Given the description of an element on the screen output the (x, y) to click on. 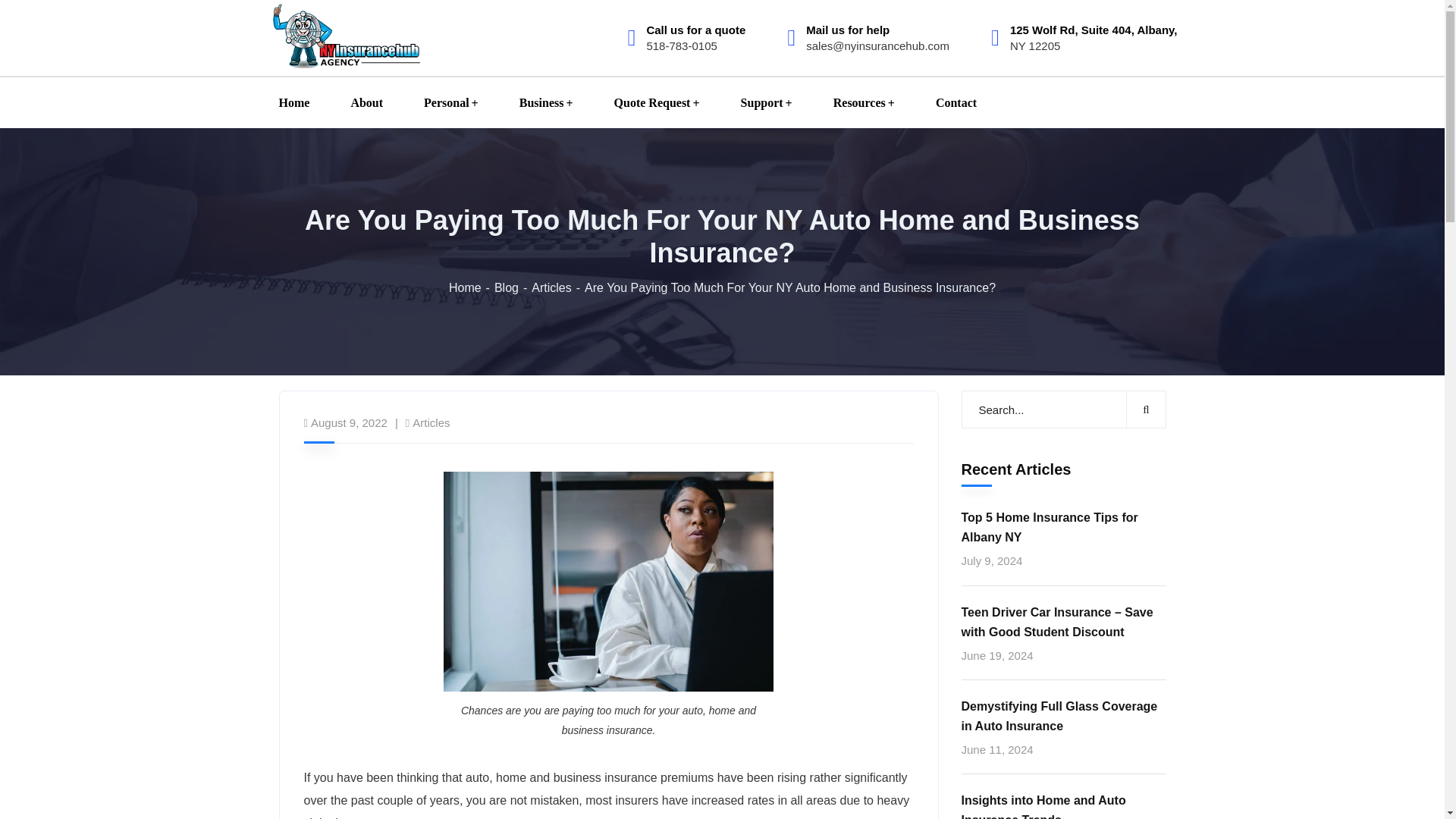
Top 5 Home Insurance Tips for Albany NY (1063, 527)
Demystifying Full Glass Coverage in Auto Insurance (1063, 716)
Personal (451, 101)
NY Insurance Hub (347, 34)
Business (546, 101)
Insights into Home and Auto Insurance Trends (1063, 805)
